Given the description of an element on the screen output the (x, y) to click on. 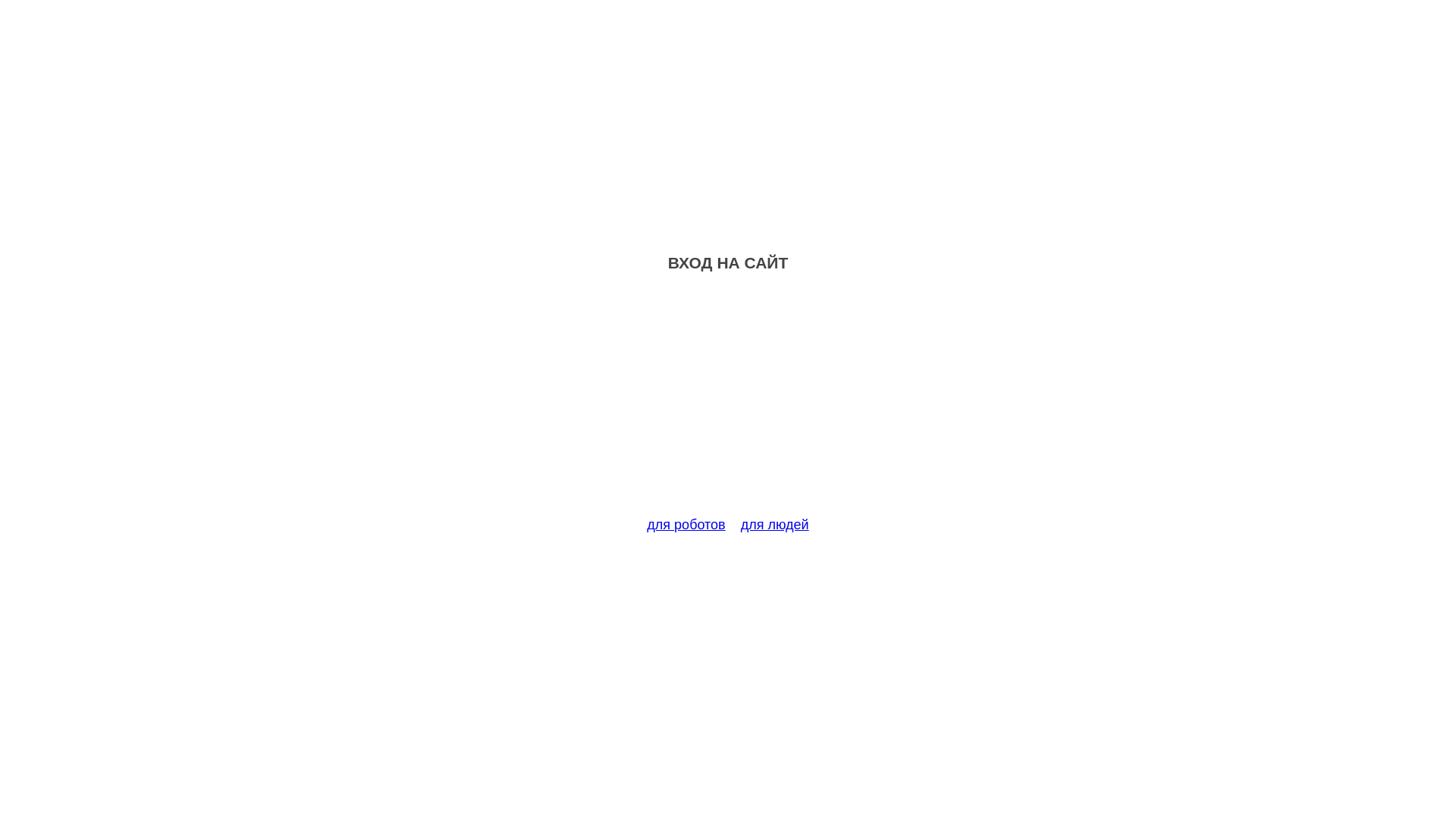
Advertisement Element type: hover (727, 403)
